Given the description of an element on the screen output the (x, y) to click on. 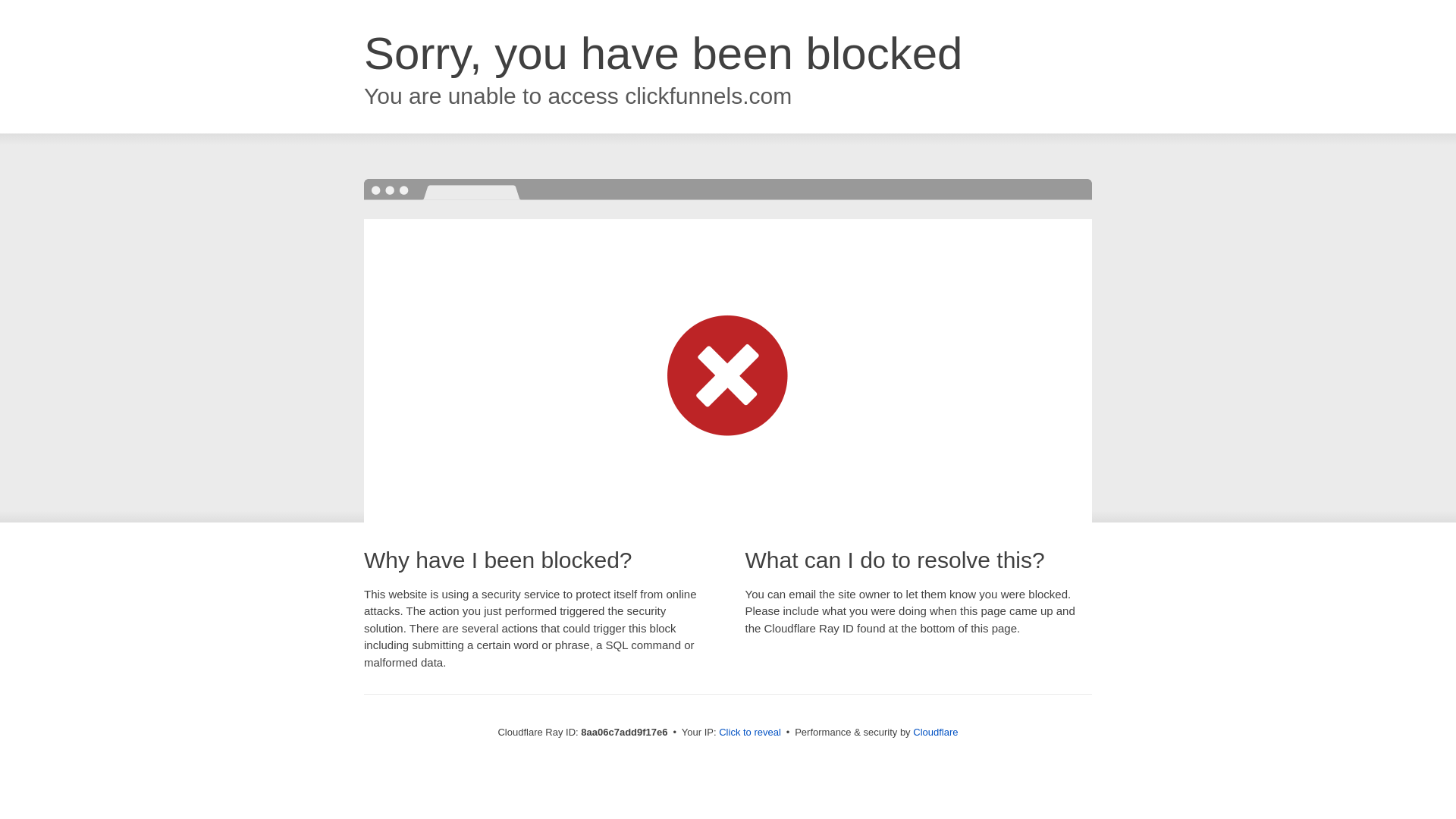
Click to reveal (749, 732)
Cloudflare (935, 731)
